Given the description of an element on the screen output the (x, y) to click on. 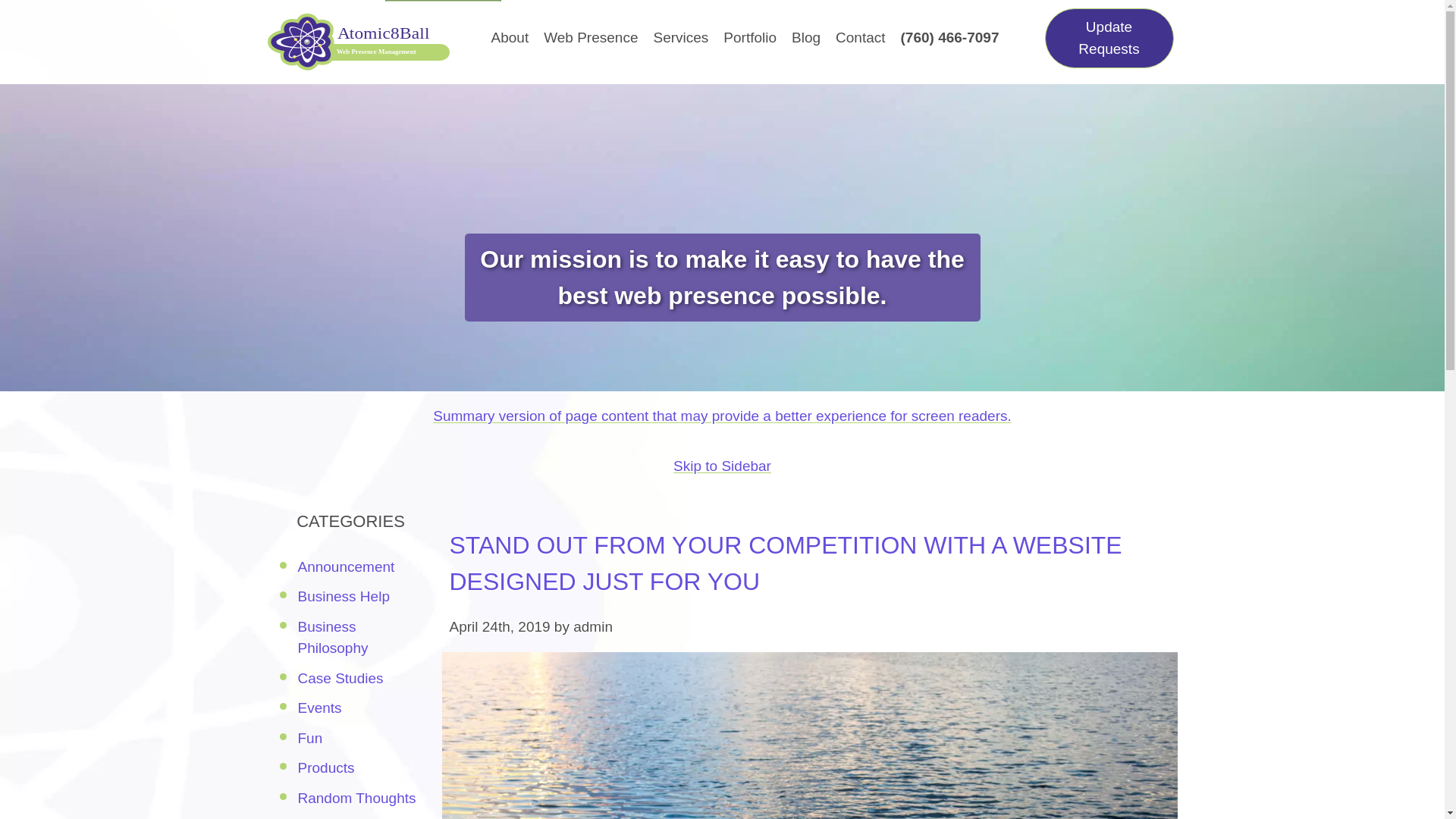
Products (325, 767)
Case Studies (339, 678)
Call Atomic8Ball (949, 38)
Update Requests (1109, 37)
About (509, 38)
Announcement (345, 566)
Events (318, 707)
Business Philosophy (332, 637)
Skip to Sidebar (721, 465)
Portfolio (749, 38)
Random Thoughts (355, 797)
Business Help (342, 596)
